Given the description of an element on the screen output the (x, y) to click on. 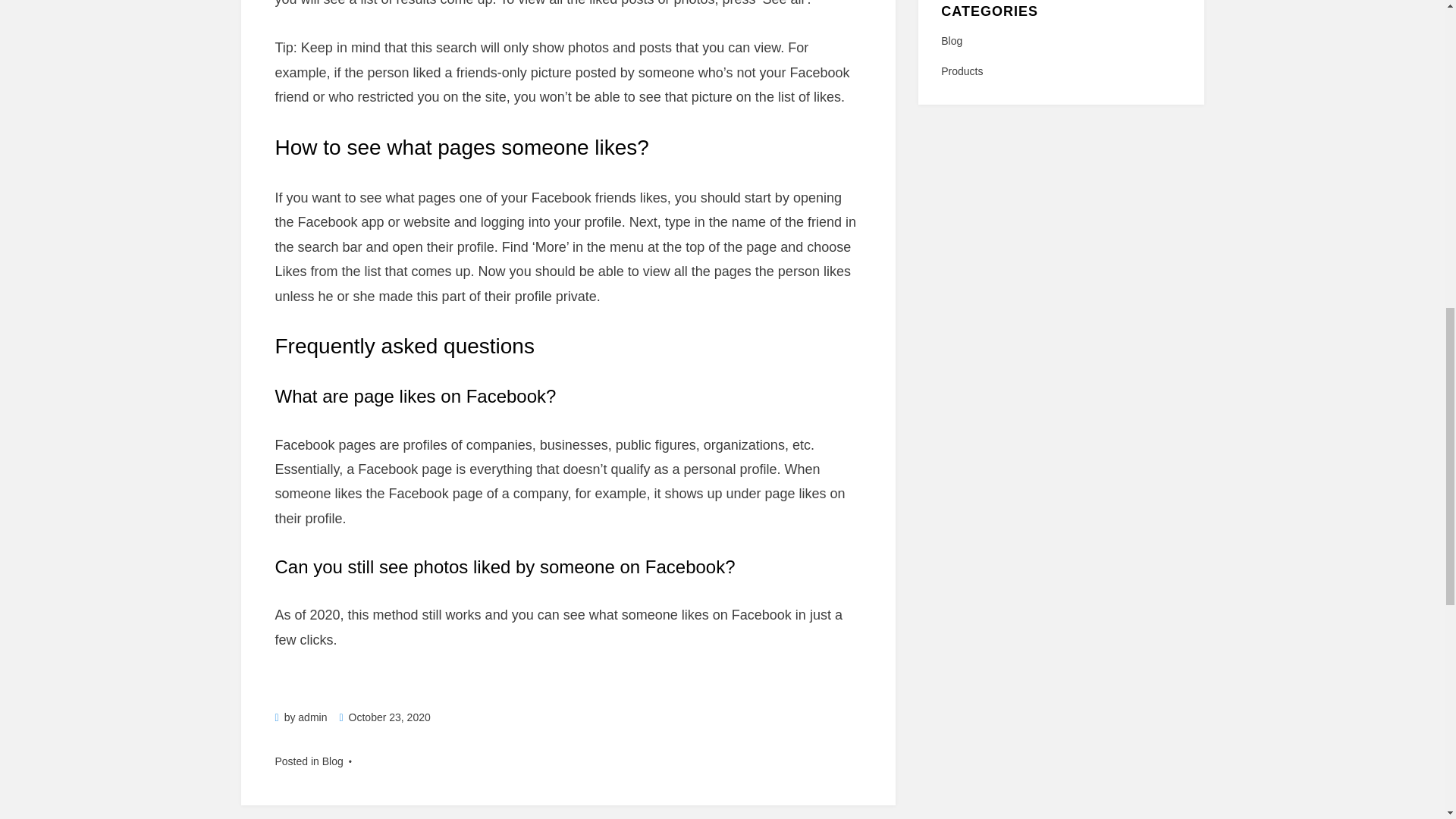
admin (312, 717)
Products (1060, 71)
October 23, 2020 (384, 717)
Blog (332, 761)
Blog (1060, 40)
